Given the description of an element on the screen output the (x, y) to click on. 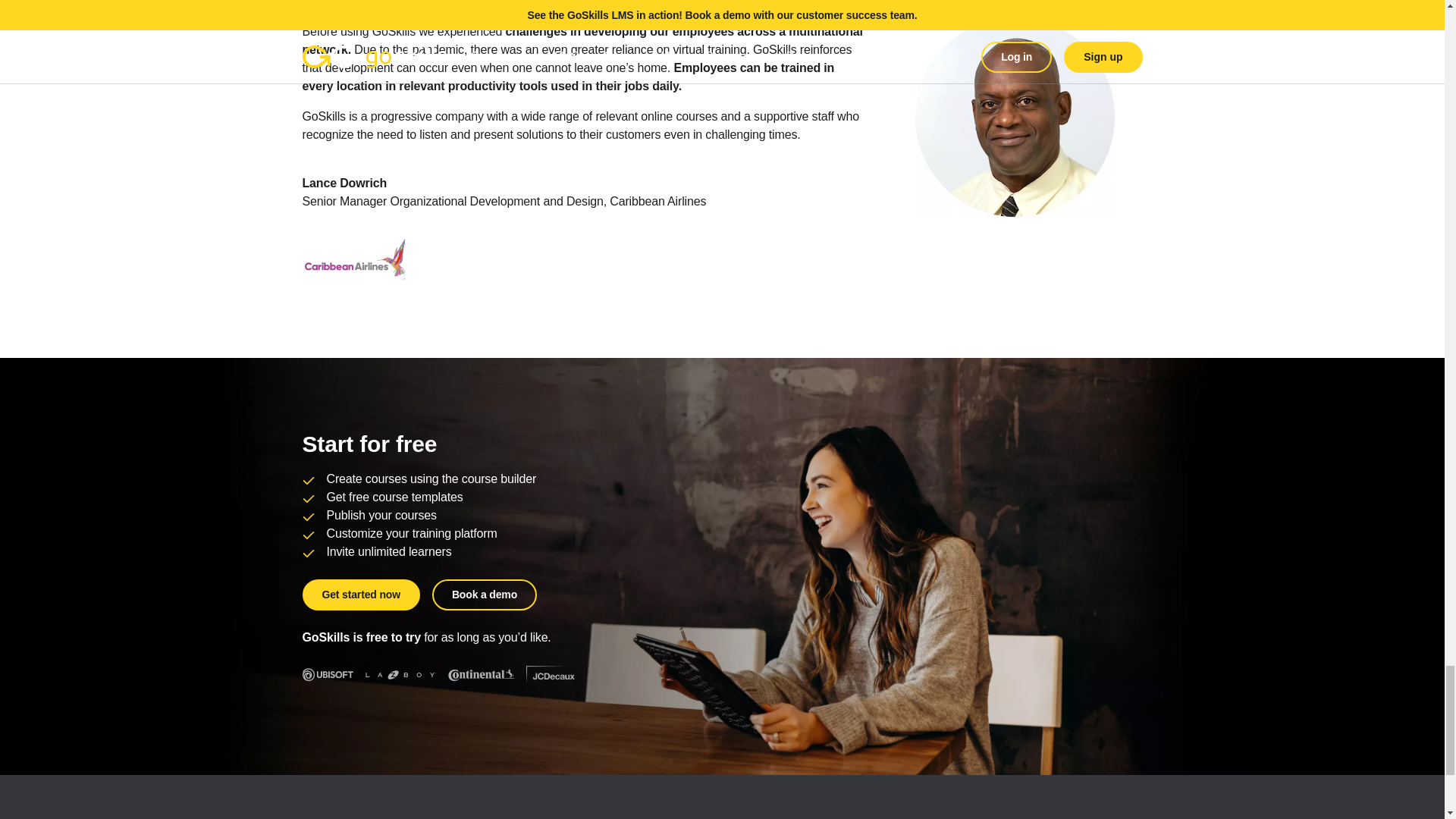
Book a demo (484, 594)
Get started now (360, 594)
